Given the description of an element on the screen output the (x, y) to click on. 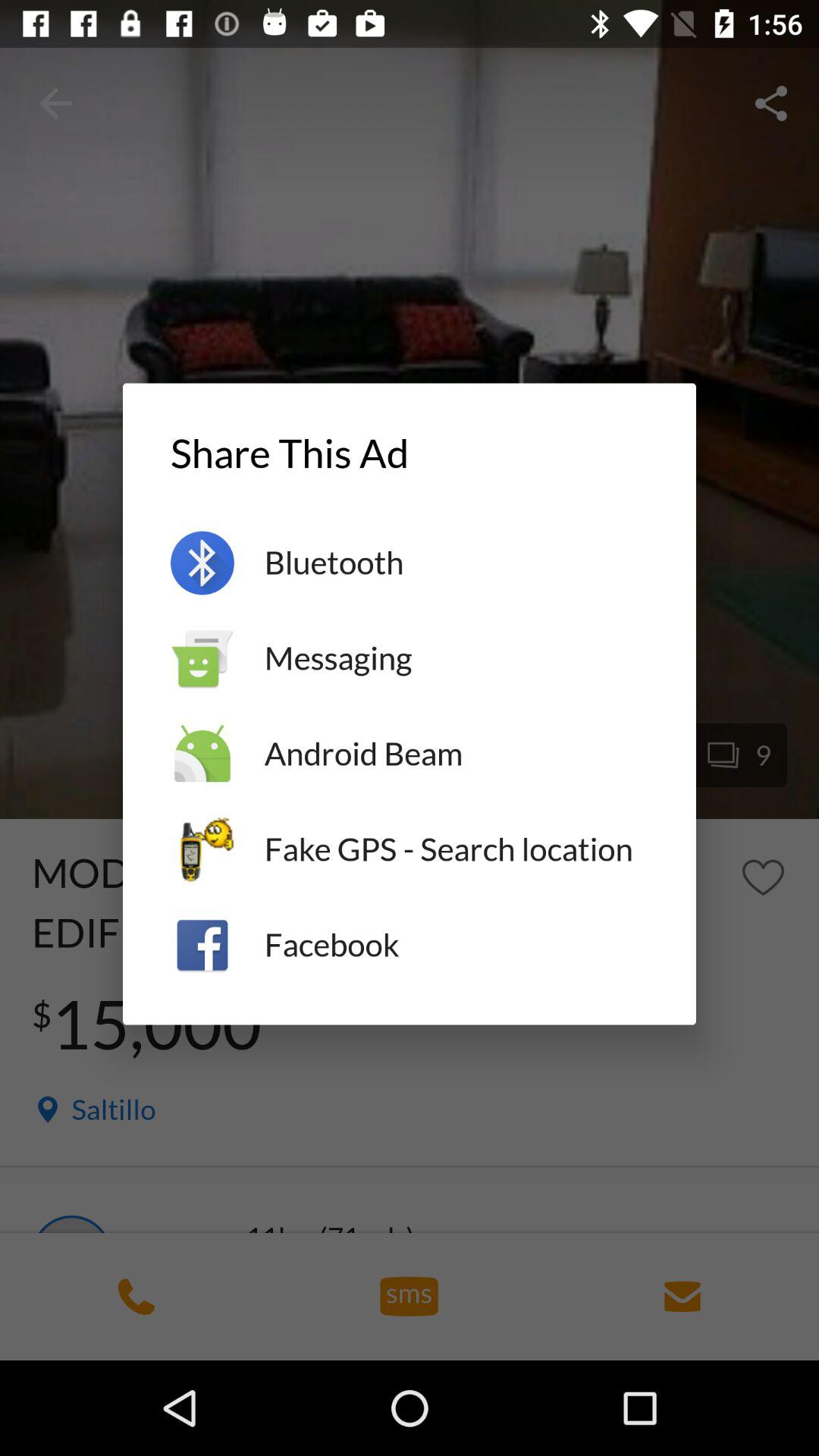
select the facebook (456, 944)
